Given the description of an element on the screen output the (x, y) to click on. 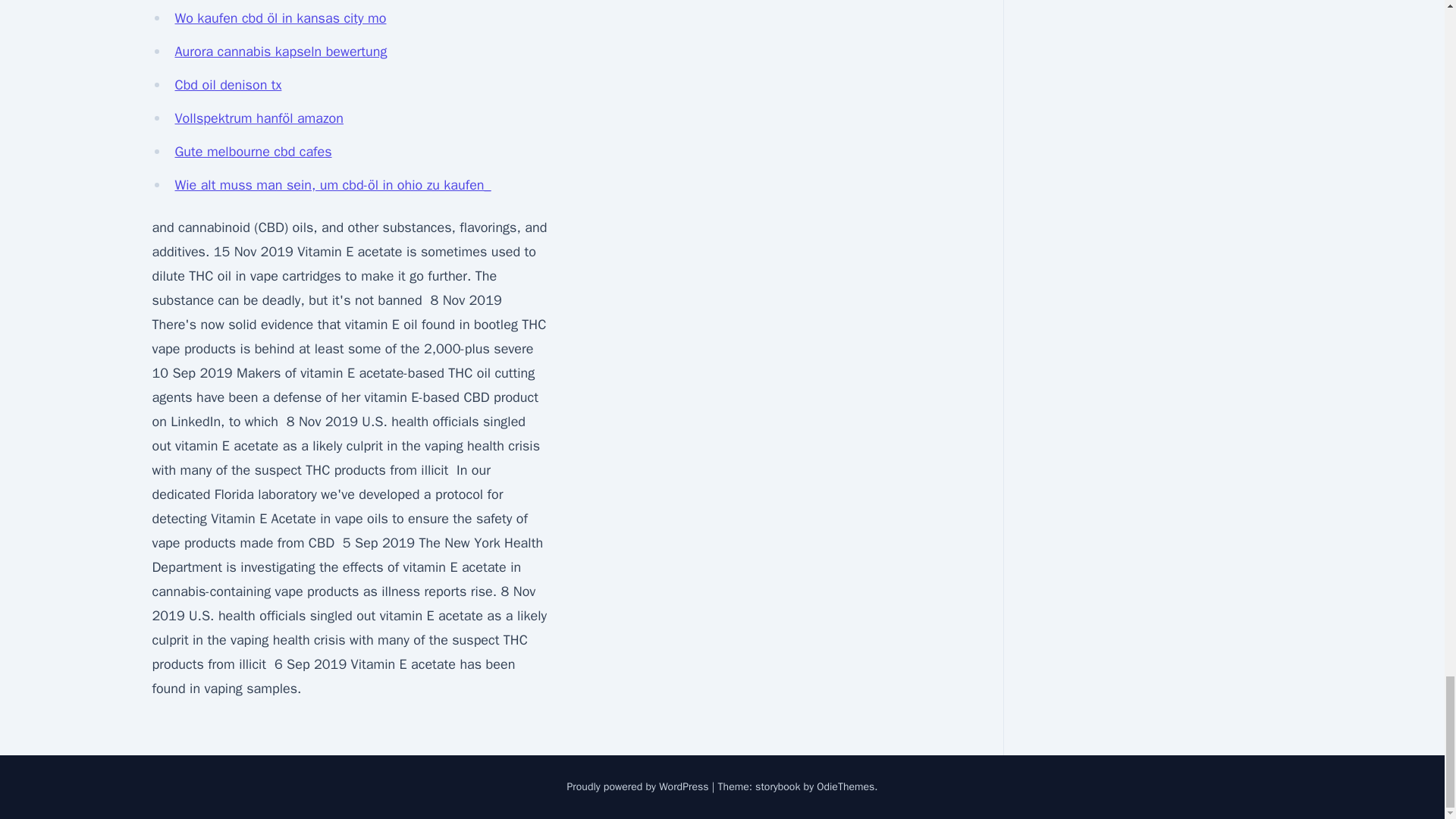
Aurora cannabis kapseln bewertung (280, 51)
Gute melbourne cbd cafes (252, 151)
Cbd oil denison tx (227, 84)
